Given the description of an element on the screen output the (x, y) to click on. 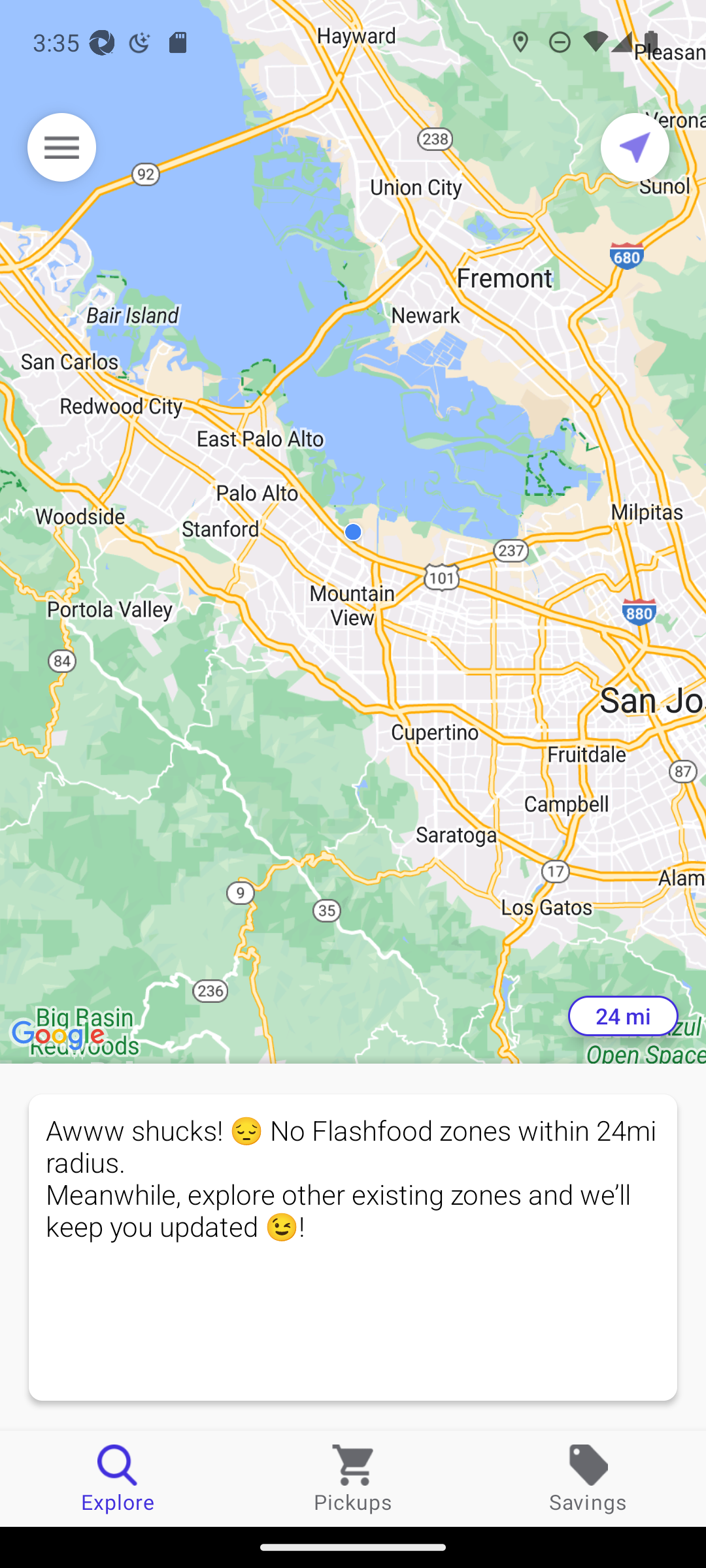
Menu (61, 146)
Current location (634, 146)
24 mi (623, 1015)
Pickups (352, 1478)
Savings (588, 1478)
